Given the description of an element on the screen output the (x, y) to click on. 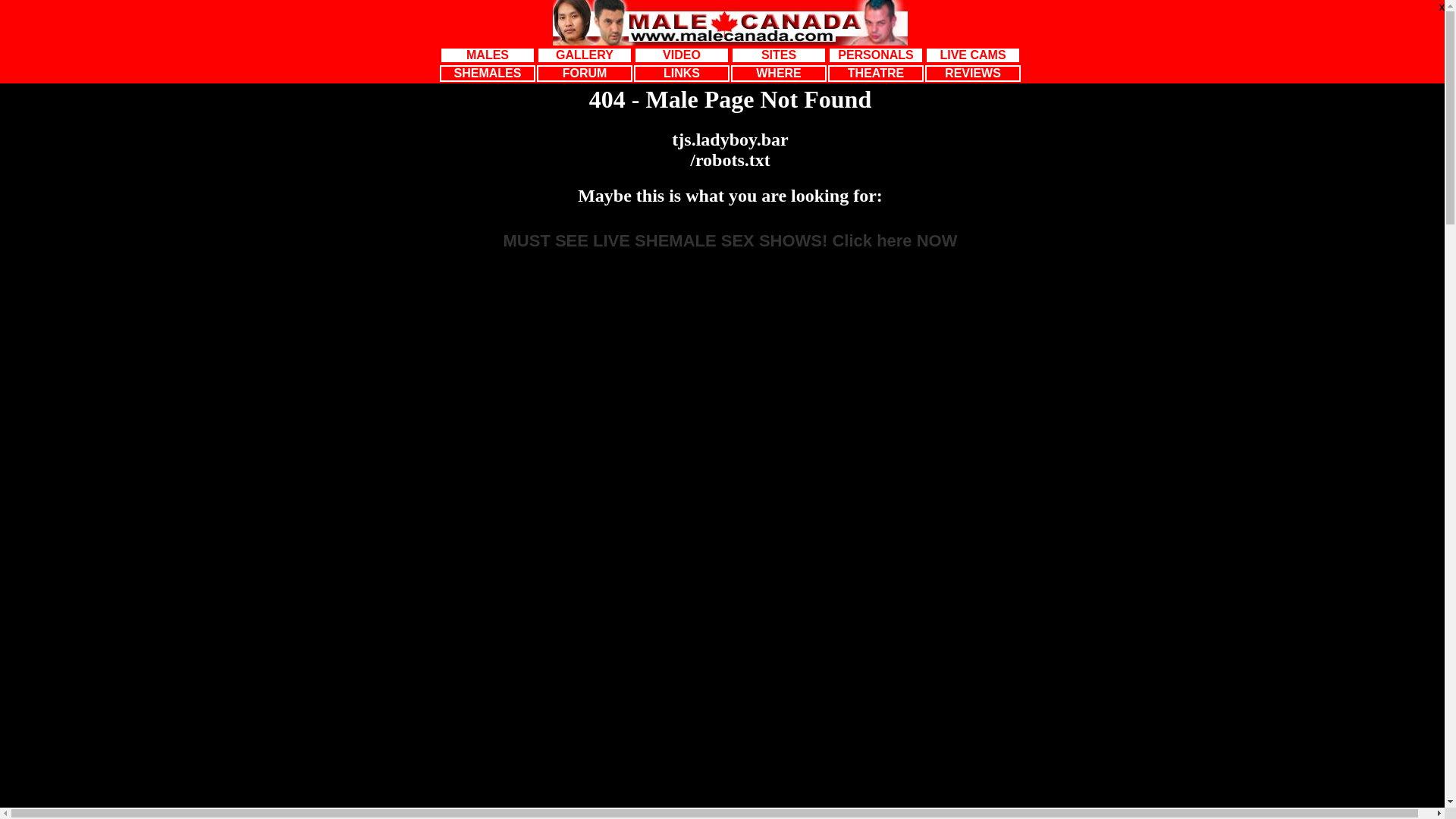
GALLERY Element type: text (584, 55)
MALES Element type: text (487, 55)
WHERE Element type: text (778, 73)
LIVE CAMS Element type: text (972, 55)
FORUM Element type: text (584, 73)
PERSONALS Element type: text (875, 55)
SITES Element type: text (778, 55)
SHEMALES Element type: text (487, 73)
LINKS Element type: text (681, 73)
THEATRE Element type: text (875, 73)
VIDEO Element type: text (681, 55)
X Element type: text (1441, 7)
REVIEWS Element type: text (972, 73)
